Given the description of an element on the screen output the (x, y) to click on. 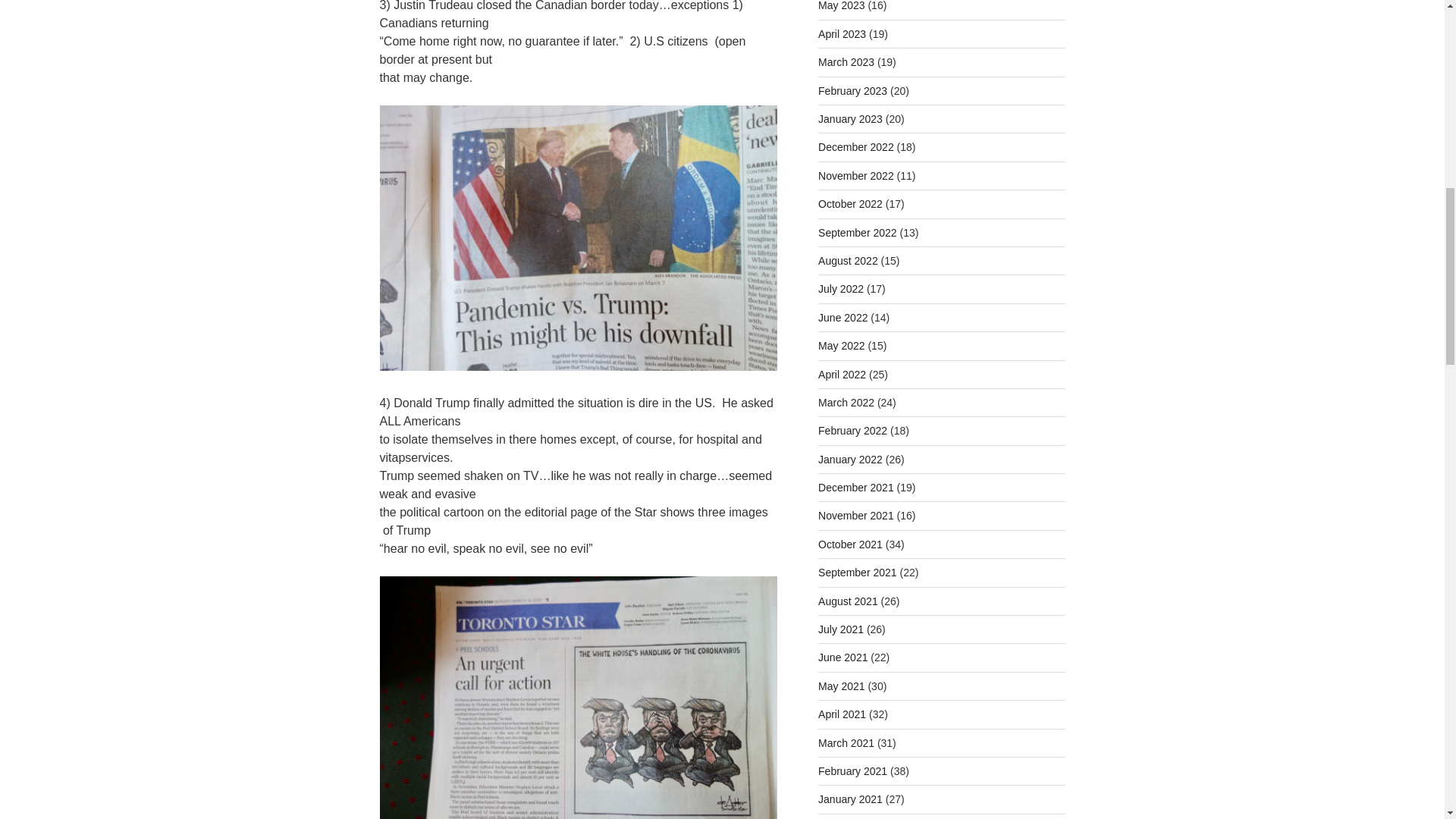
September 2022 (857, 232)
May 2023 (841, 5)
July 2022 (840, 288)
April 2023 (842, 33)
February 2023 (852, 91)
June 2022 (842, 317)
October 2022 (850, 203)
May 2022 (841, 345)
August 2022 (847, 260)
November 2022 (855, 175)
